Given the description of an element on the screen output the (x, y) to click on. 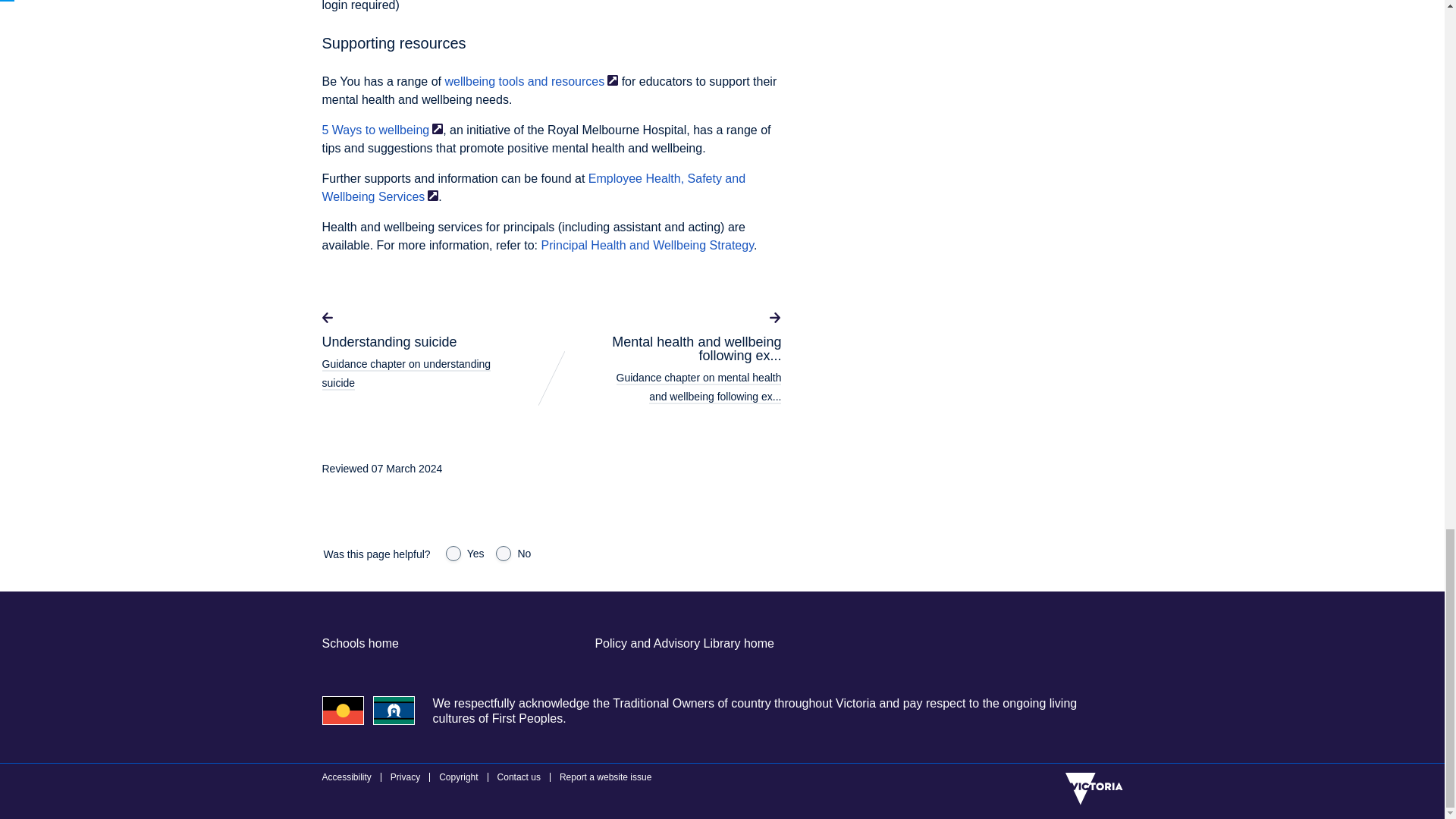
Yes (453, 553)
No (503, 553)
5 Ways to wellbeingExternal Link (381, 129)
wellbeing tools and resourcesExternal Link (530, 81)
External Link (433, 195)
External Link (437, 128)
Principal Health and Wellbeing Strategy (647, 245)
Employee Health, Safety and Wellbeing ServicesExternal Link (533, 187)
External Link (612, 80)
